Given the description of an element on the screen output the (x, y) to click on. 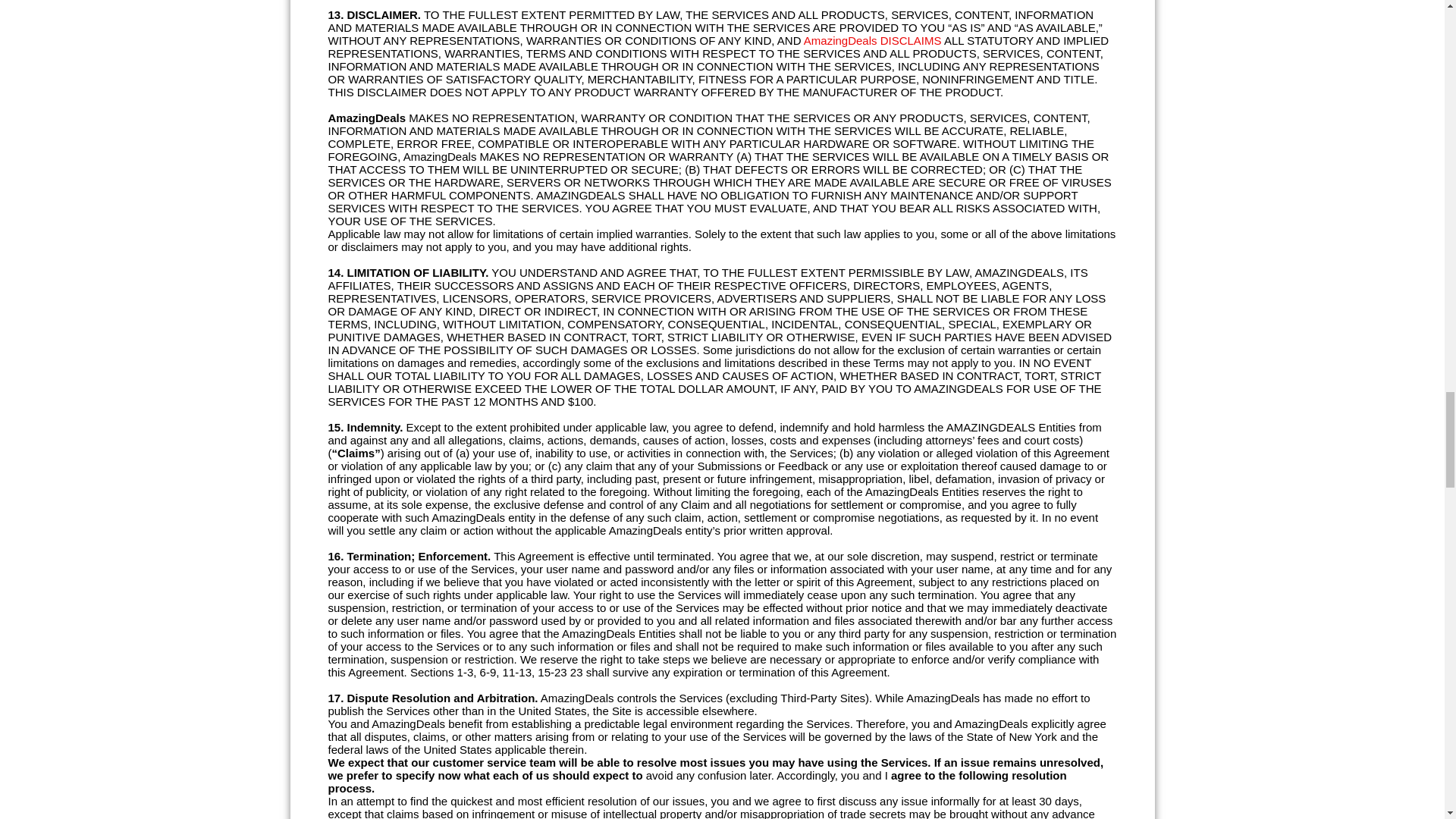
AmazingDeals DISCLAIMS (872, 40)
